Given the description of an element on the screen output the (x, y) to click on. 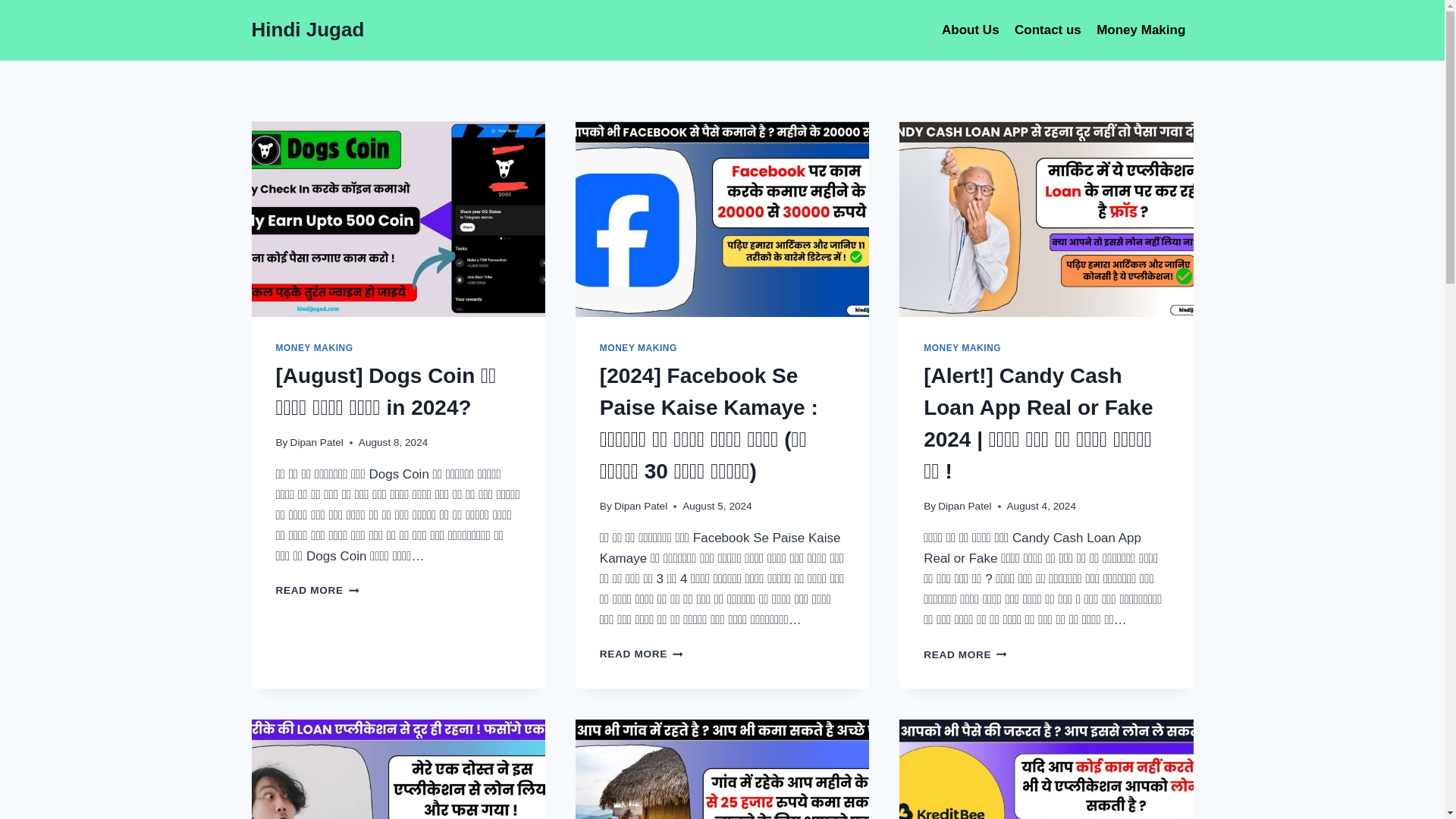
Contact us (1048, 30)
About Us (970, 30)
Dipan Patel (316, 441)
MONEY MAKING (962, 347)
Dipan Patel (964, 505)
MONEY MAKING (314, 347)
MONEY MAKING (638, 347)
Money Making (1141, 30)
Dipan Patel (640, 505)
Hindi Jugad (308, 29)
